Given the description of an element on the screen output the (x, y) to click on. 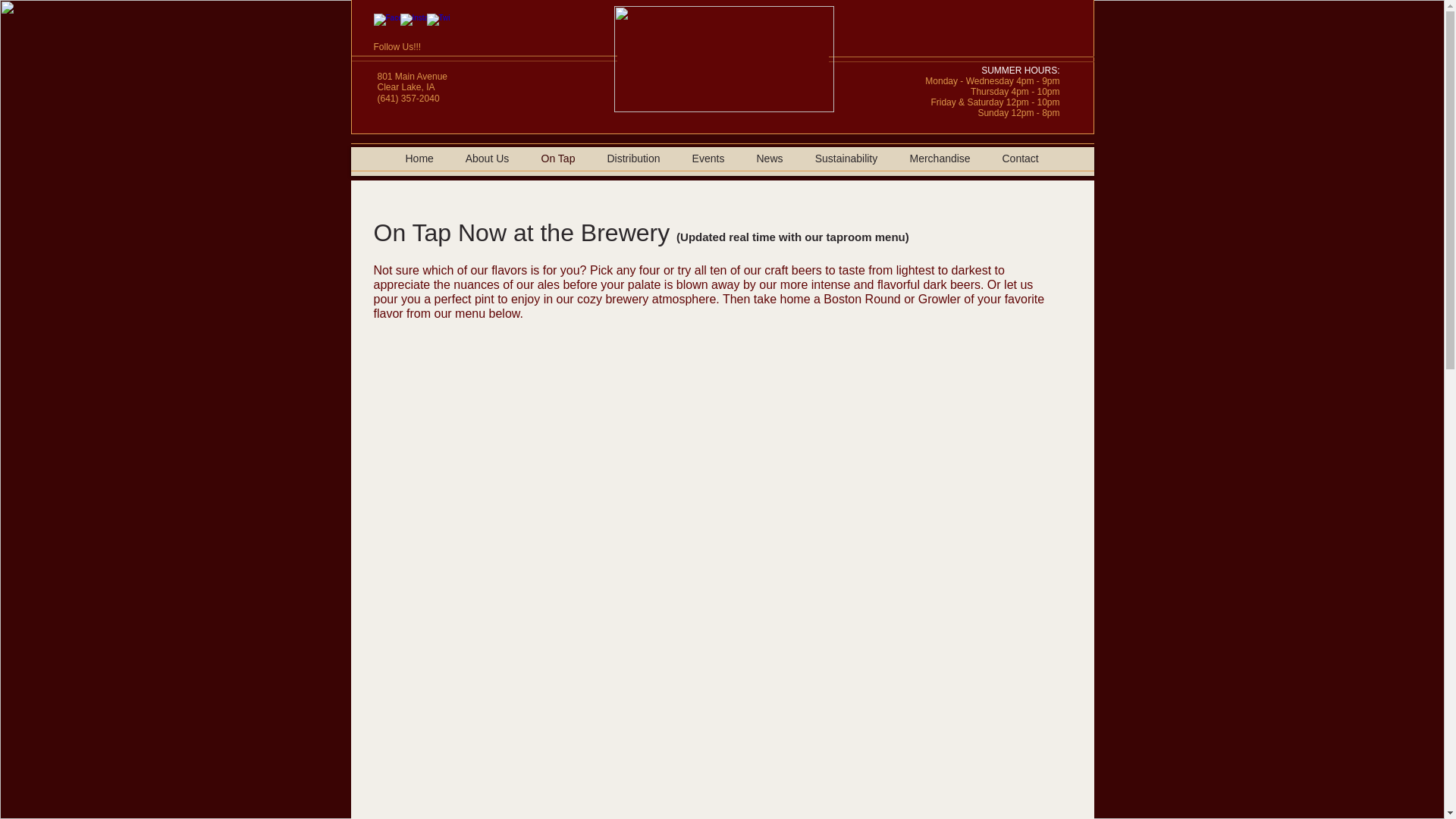
Events (709, 158)
News (768, 158)
Home (419, 158)
Sustainability (846, 158)
Merchandise (939, 158)
Contact (1019, 158)
About Us (486, 158)
Distribution (634, 158)
On Tap (557, 158)
